Given the description of an element on the screen output the (x, y) to click on. 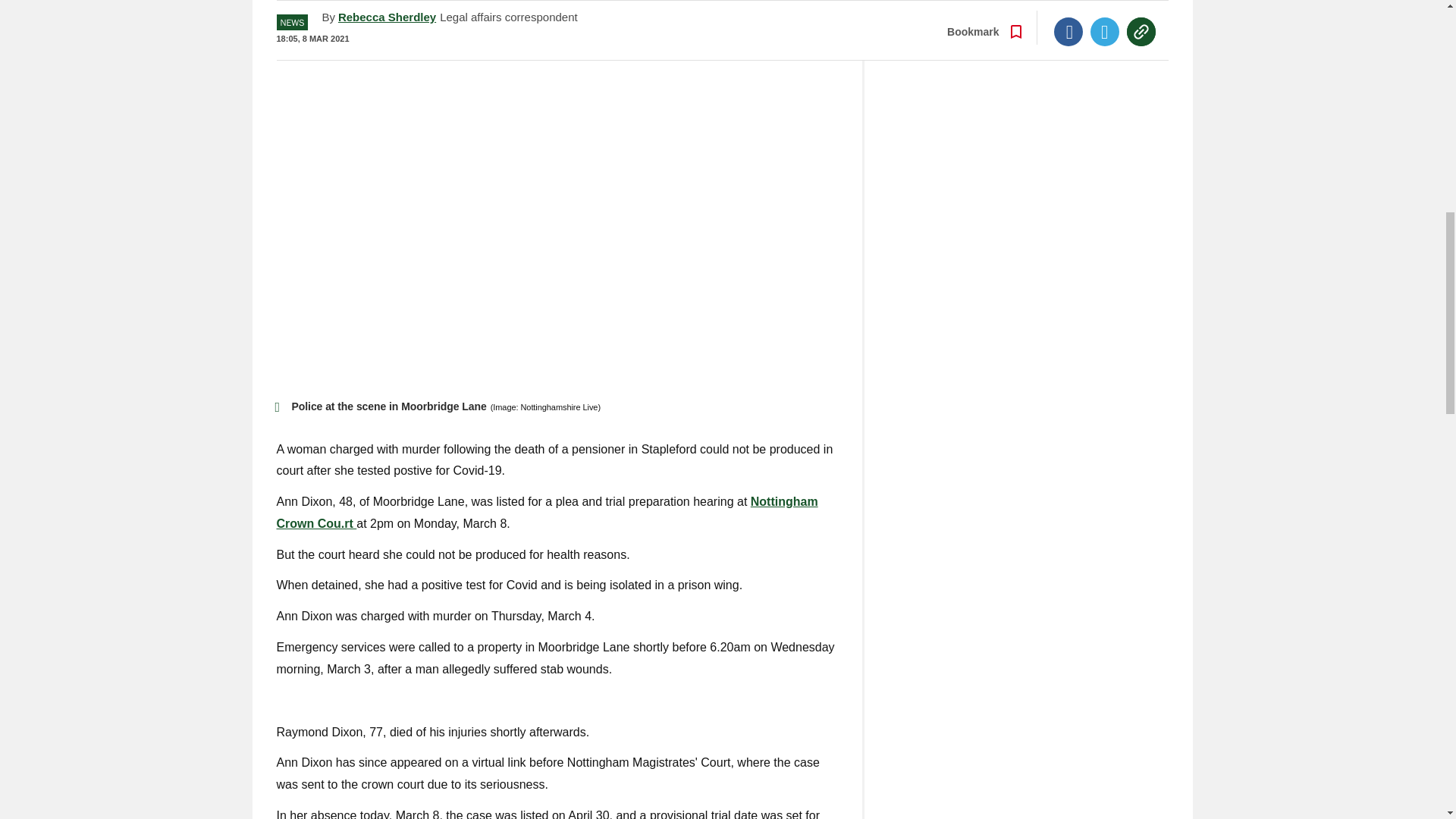
Go (730, 2)
